Given the description of an element on the screen output the (x, y) to click on. 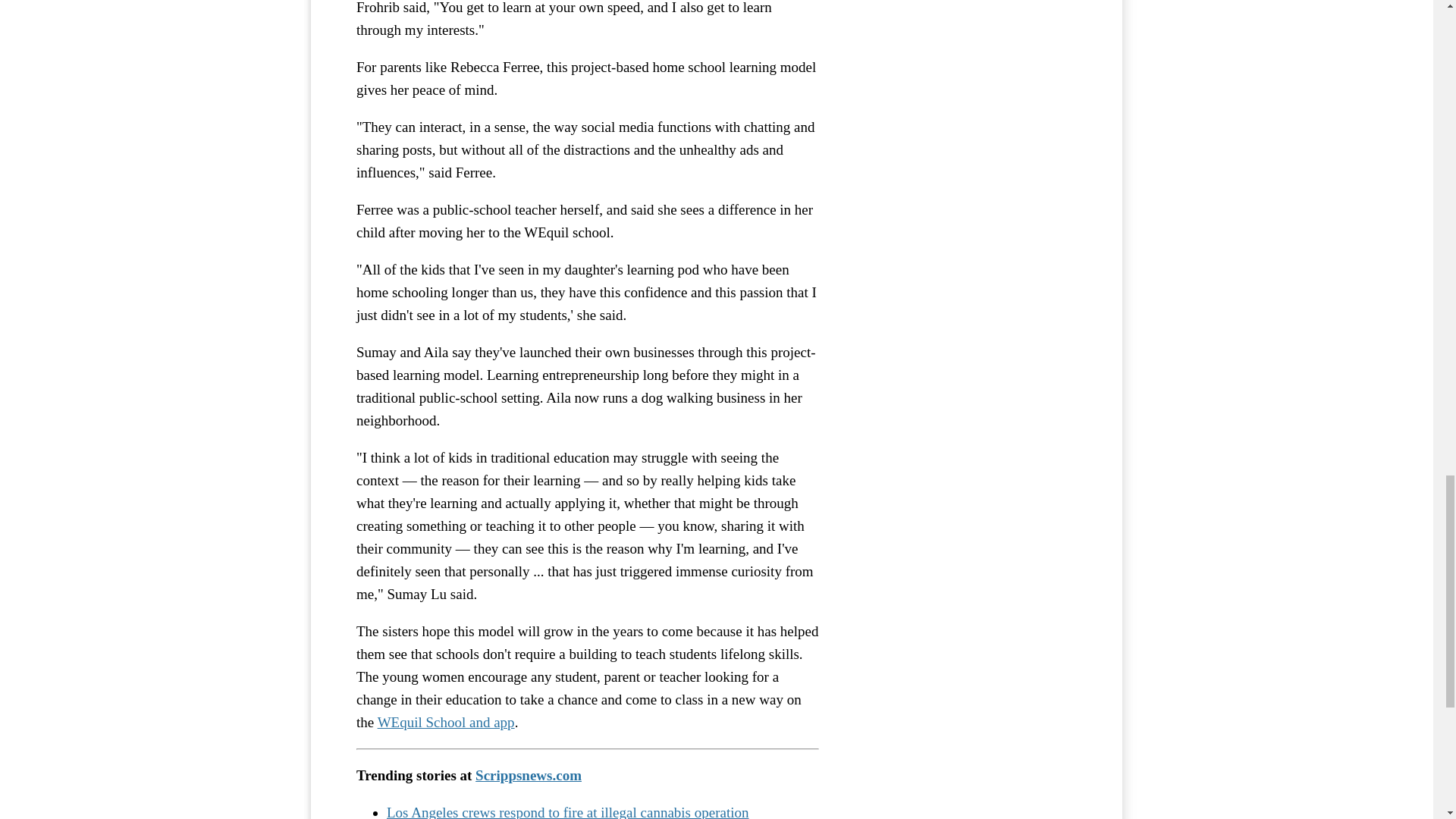
Scrippsnews.com (528, 774)
WEquil School and app (446, 722)
